Given the description of an element on the screen output the (x, y) to click on. 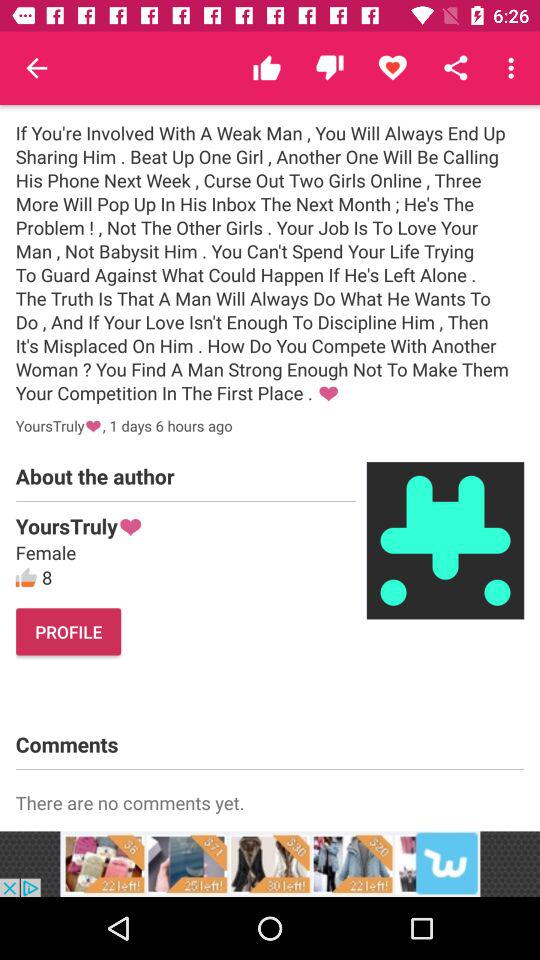
advertisements image (270, 864)
